Given the description of an element on the screen output the (x, y) to click on. 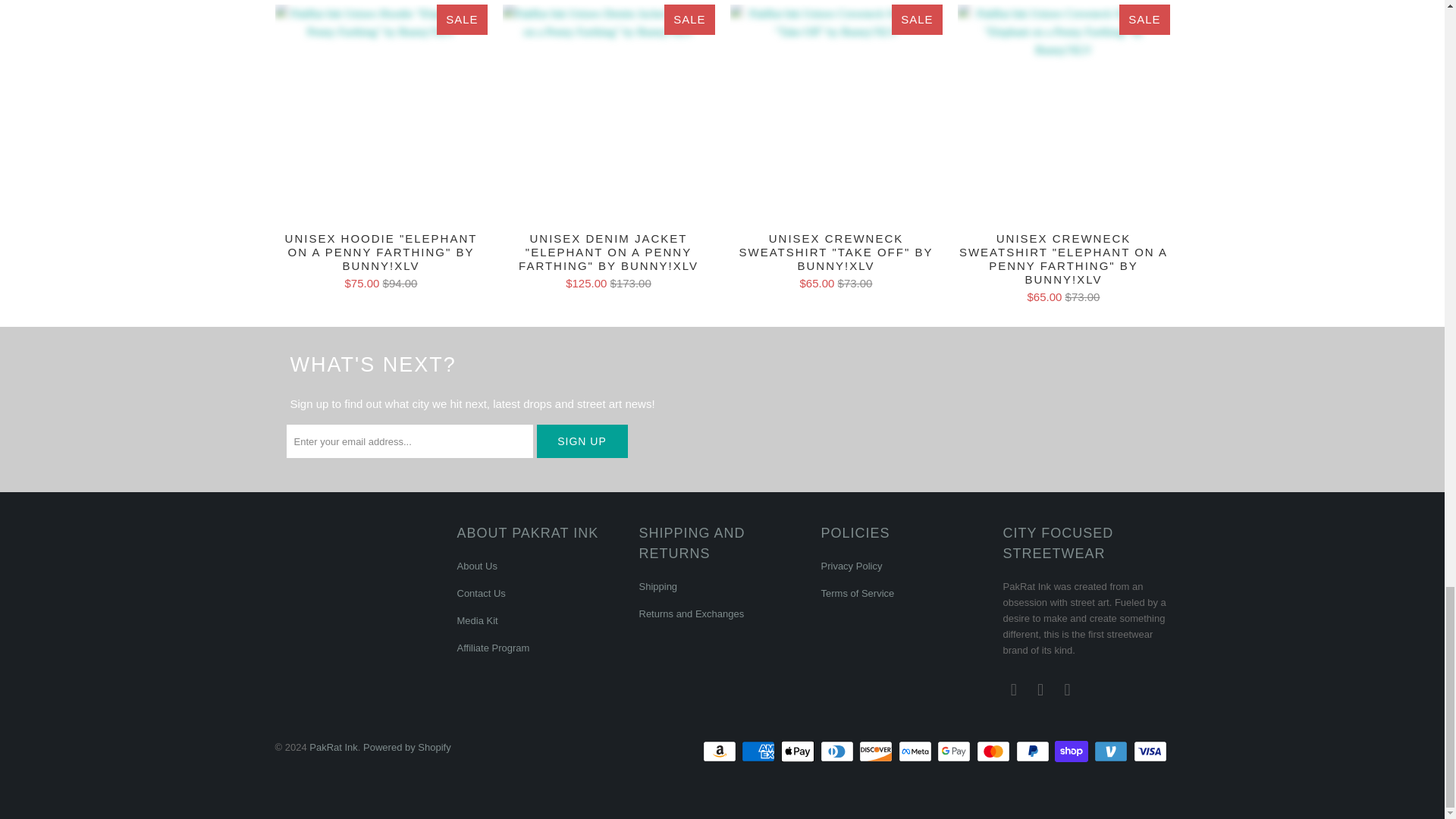
Sign Up (582, 441)
Discover (877, 751)
PakRat Ink on Instagram (1040, 689)
Amazon (721, 751)
PakRat Ink on Facebook (1014, 689)
Shop Pay (1072, 751)
PayPal (1034, 751)
Google Pay (955, 751)
Meta Pay (916, 751)
Apple Pay (798, 751)
